Given the description of an element on the screen output the (x, y) to click on. 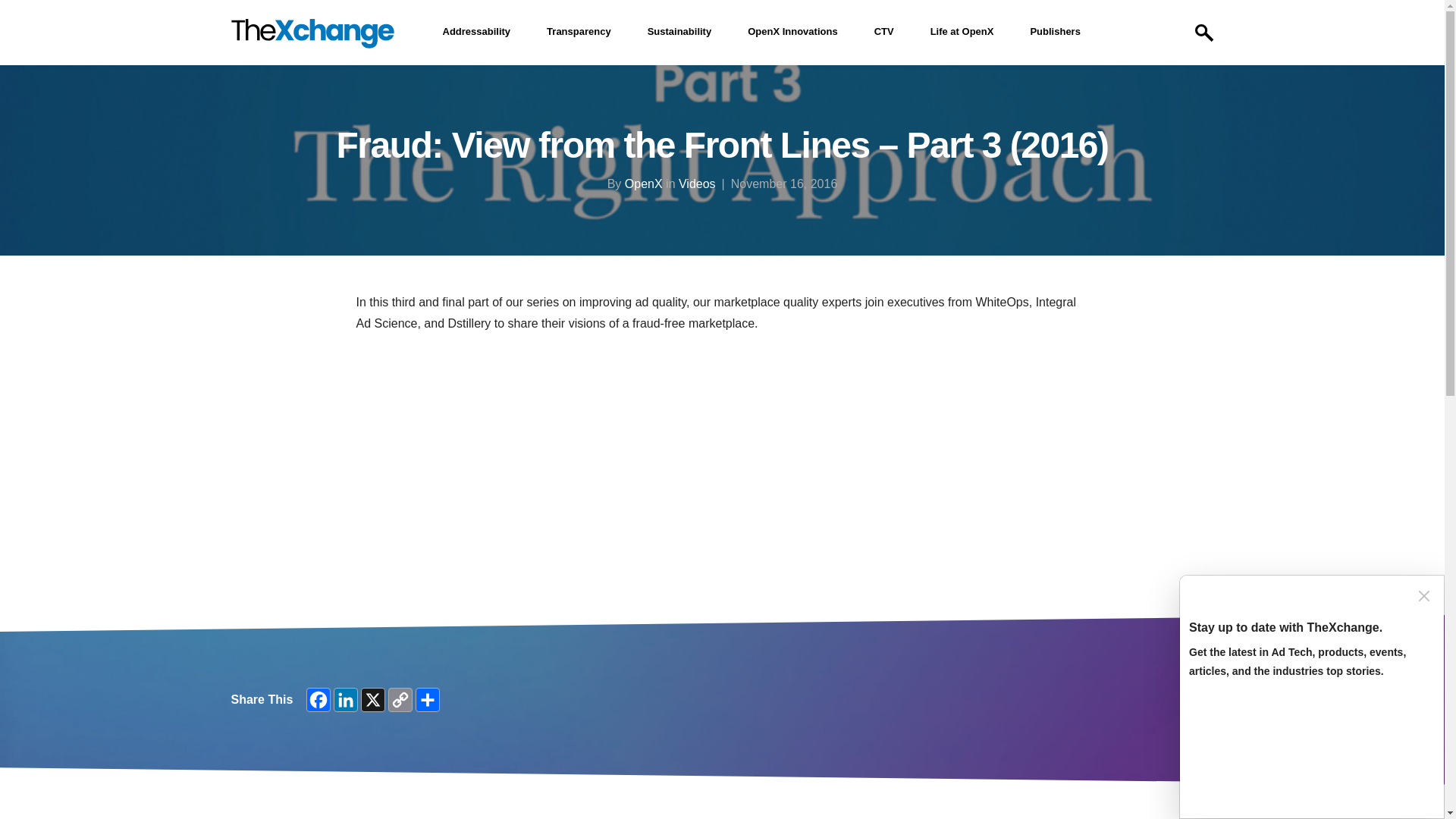
Sustainability (679, 31)
Transparency (578, 31)
Publishers (1054, 31)
Fraud: View from the Front Lines - Part 3 (545, 452)
Search (1194, 91)
LinkedIn (345, 699)
Copy Link (400, 699)
CTV (884, 31)
Life at OpenX (961, 31)
Facebook (317, 699)
X (373, 699)
Videos (697, 183)
OpenX Innovations (792, 31)
Form 0 (1311, 750)
OpenX (643, 183)
